Given the description of an element on the screen output the (x, y) to click on. 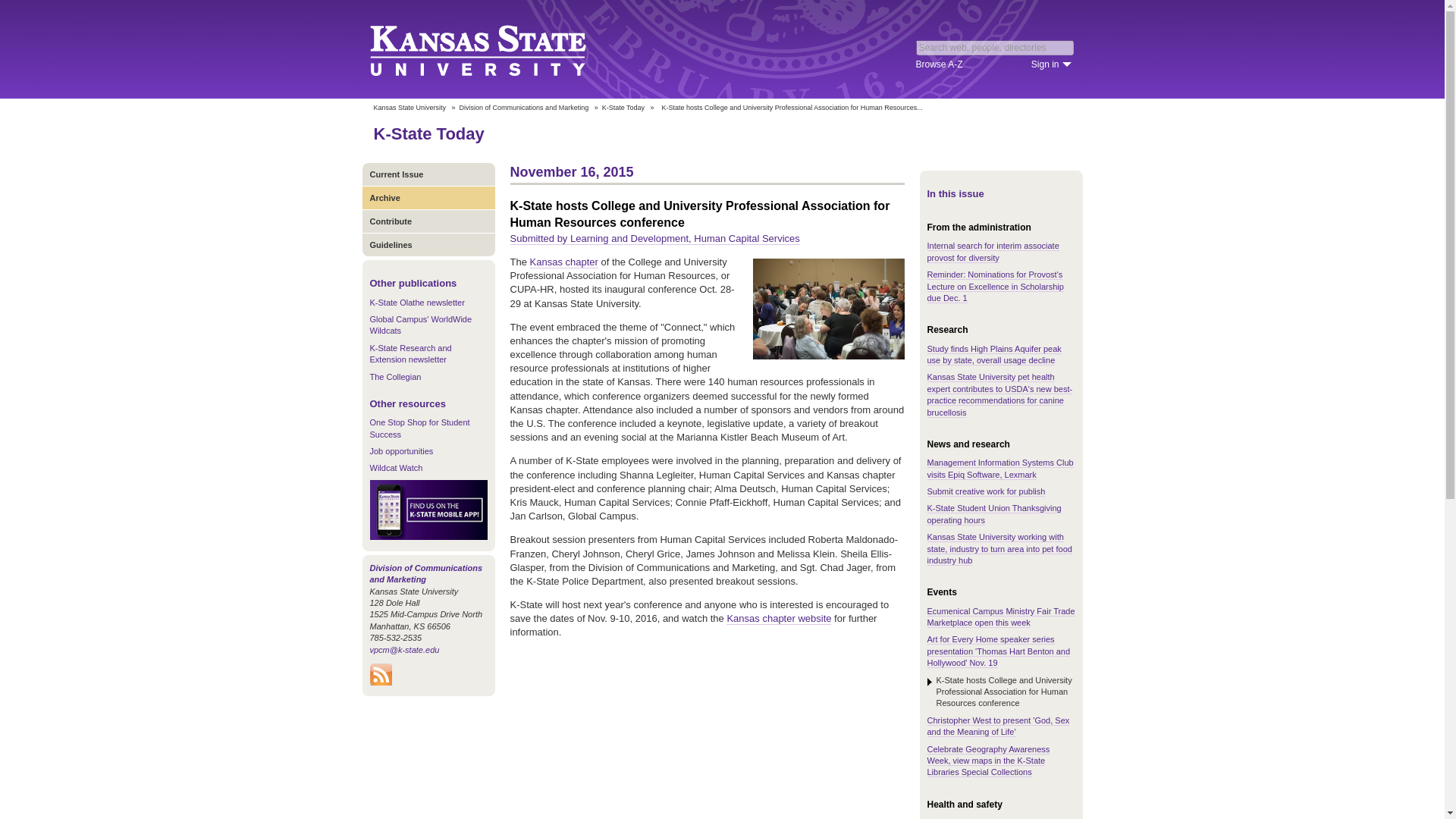
K-State Olathe newsletter (416, 302)
Sign in (1050, 64)
Internal search for interim associate provost for diversity (992, 251)
Guidelines (428, 244)
Job opportunities (401, 450)
K-State Today (623, 107)
Division of Communications and Marketing (524, 107)
Kansas State University (496, 49)
Search web, people, directories (994, 47)
K-State Student Union announces Thanksgiving hours. (993, 513)
Division of Communications and Marketing (426, 573)
